Given the description of an element on the screen output the (x, y) to click on. 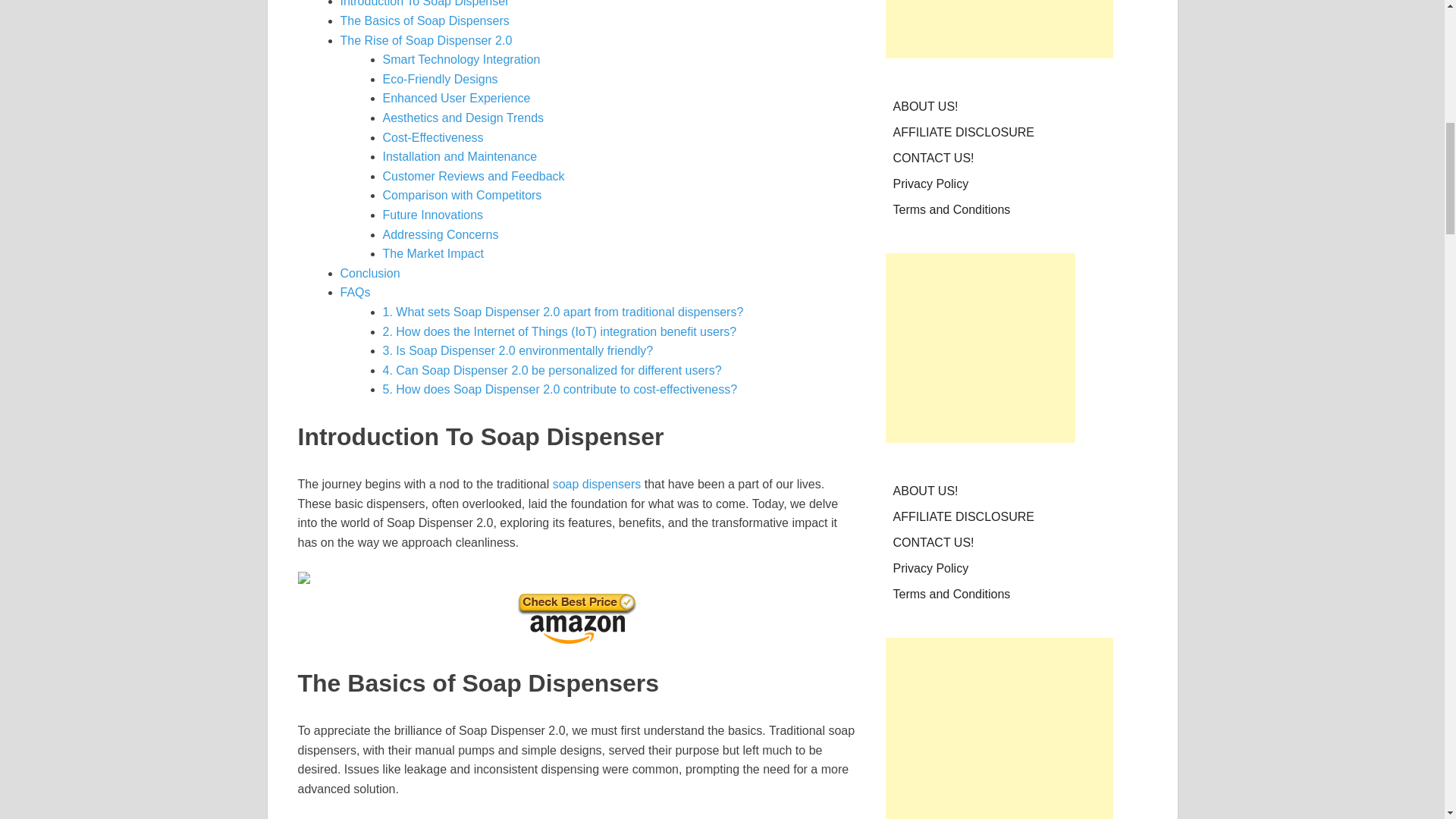
Cost-Effectiveness (432, 137)
Customer Reviews and Feedback (472, 175)
Advertisement (980, 348)
Advertisement (999, 29)
Future Innovations (432, 214)
Comparison with Competitors (461, 195)
Eco-Friendly Designs (439, 78)
Aesthetics and Design Trends (462, 117)
FAQs (354, 291)
Enhanced User Experience (455, 97)
Installation and Maintenance (459, 155)
Addressing Concerns (439, 234)
Introduction To Soap Dispenser (423, 3)
The Basics of Soap Dispensers (423, 20)
